Given the description of an element on the screen output the (x, y) to click on. 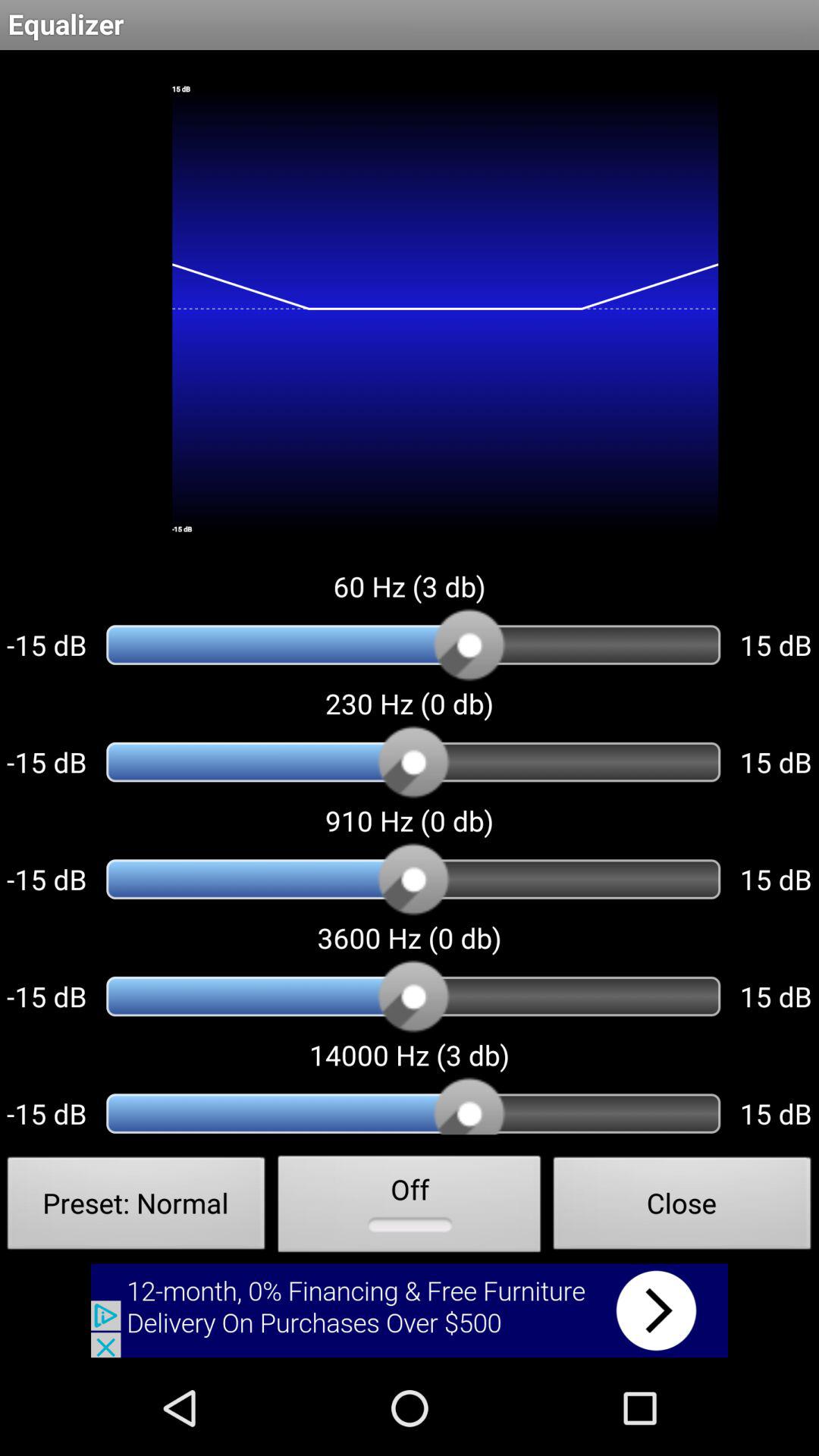
advertisement button (409, 1310)
